Given the description of an element on the screen output the (x, y) to click on. 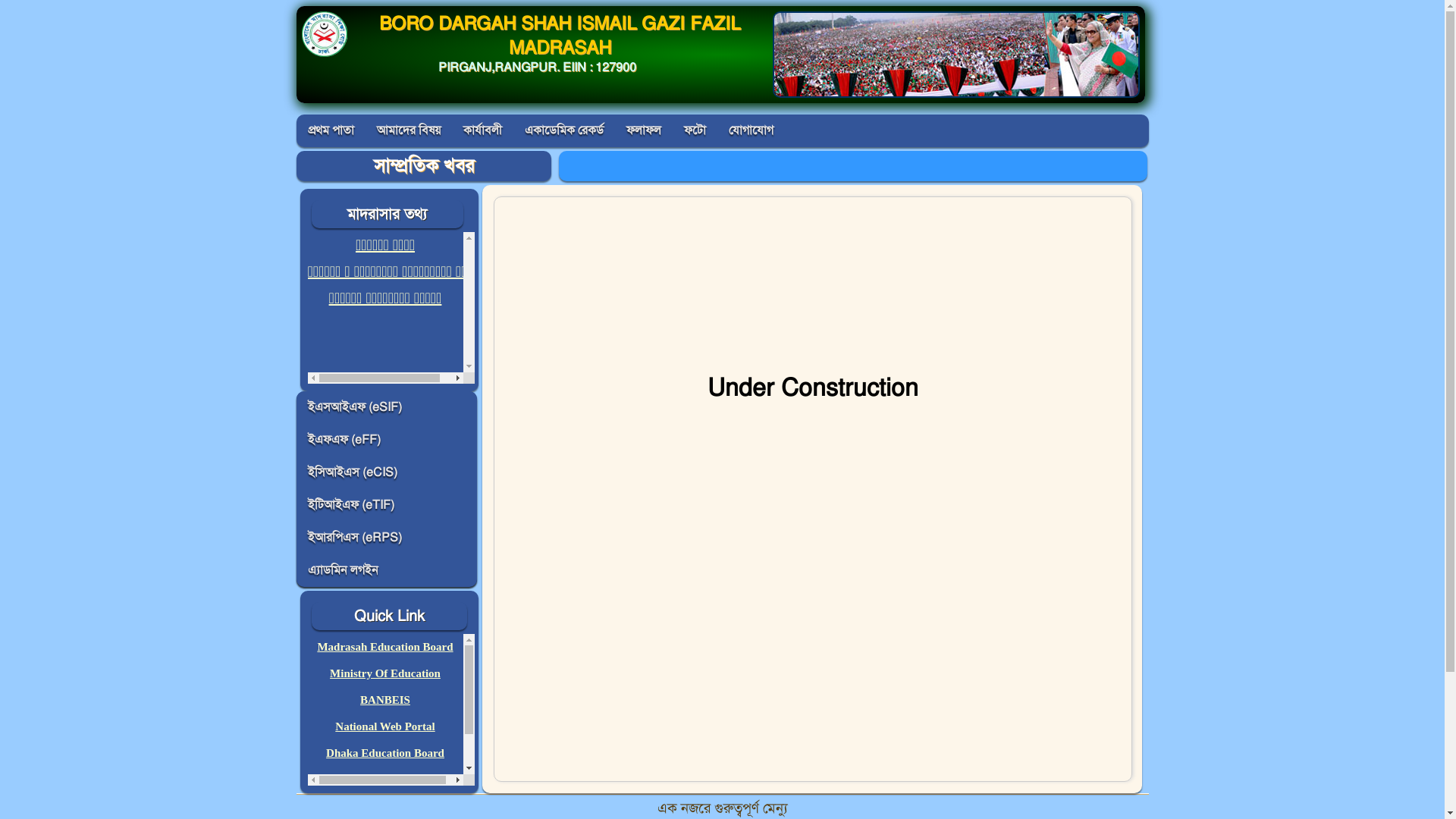
National Curriculum & Textbook Element type: text (388, 779)
BANBEIS Element type: text (385, 699)
Ministry Of Education Element type: text (384, 673)
National Web Portal Element type: text (384, 726)
Dhaka Education Board Element type: text (385, 752)
Prime Minister Office Element type: text (385, 806)
Madrasah Education Board Element type: text (384, 646)
